Given the description of an element on the screen output the (x, y) to click on. 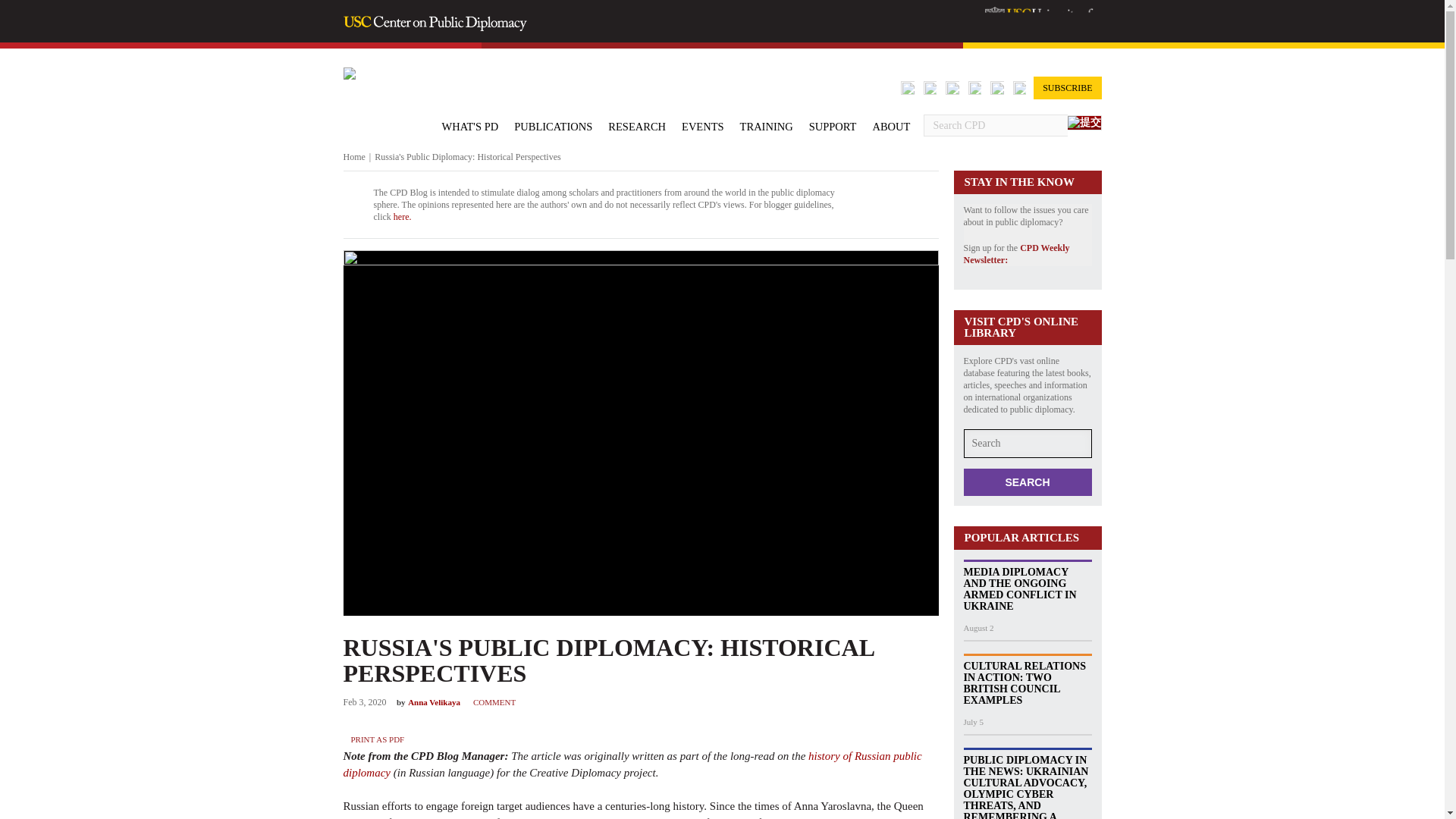
TRAINING (766, 126)
Search CPD (995, 125)
WHAT'S PD (469, 126)
COMMENT (494, 701)
PUBLICATIONS (553, 126)
Anna Velikaya (433, 701)
EVENTS (702, 126)
SUPPORT (833, 126)
Search CPD (995, 125)
